Given the description of an element on the screen output the (x, y) to click on. 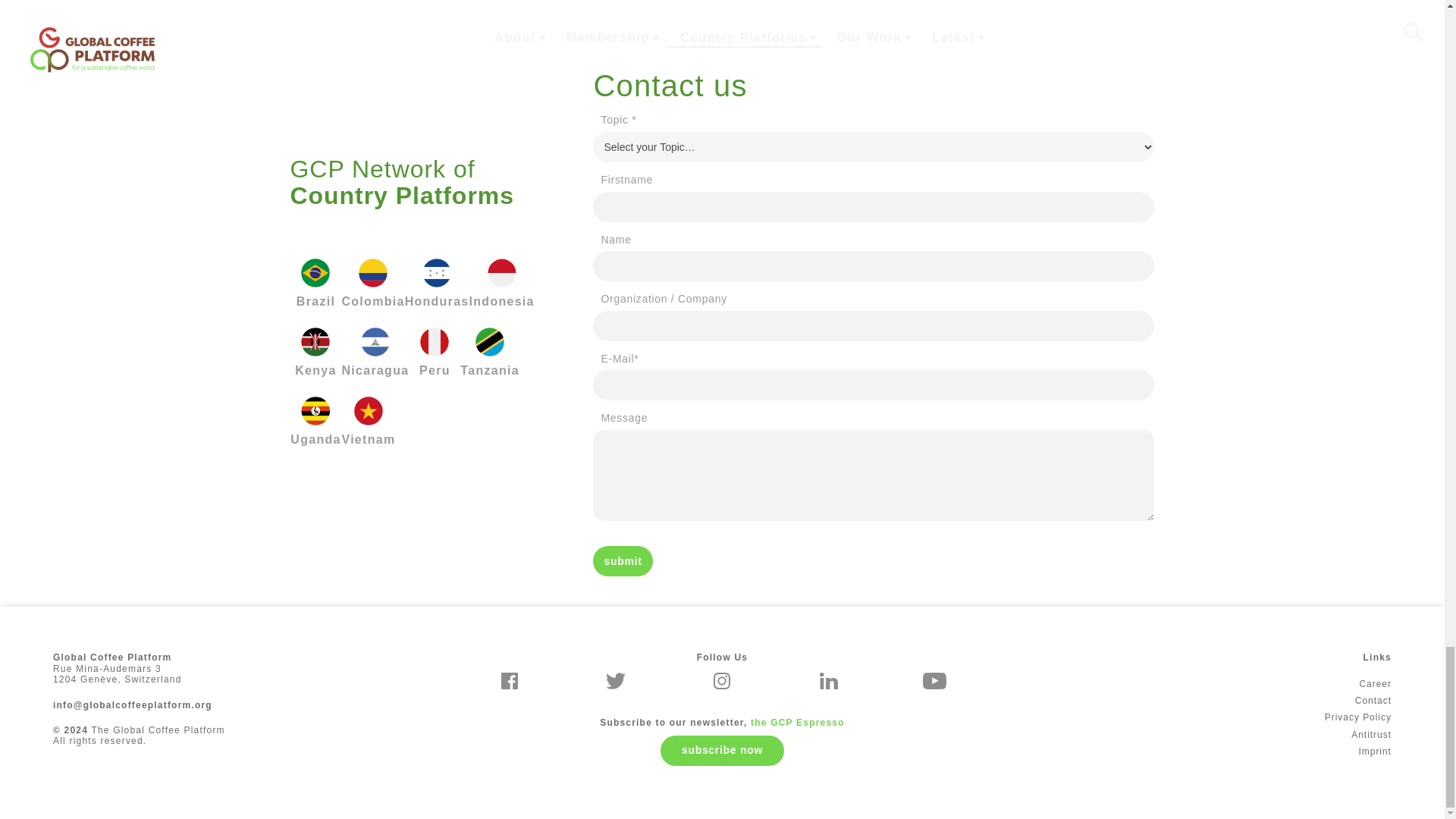
Youtube (934, 680)
Twitter (615, 680)
Instagram (722, 680)
Facebook (509, 680)
Linkedin (828, 680)
